Given the description of an element on the screen output the (x, y) to click on. 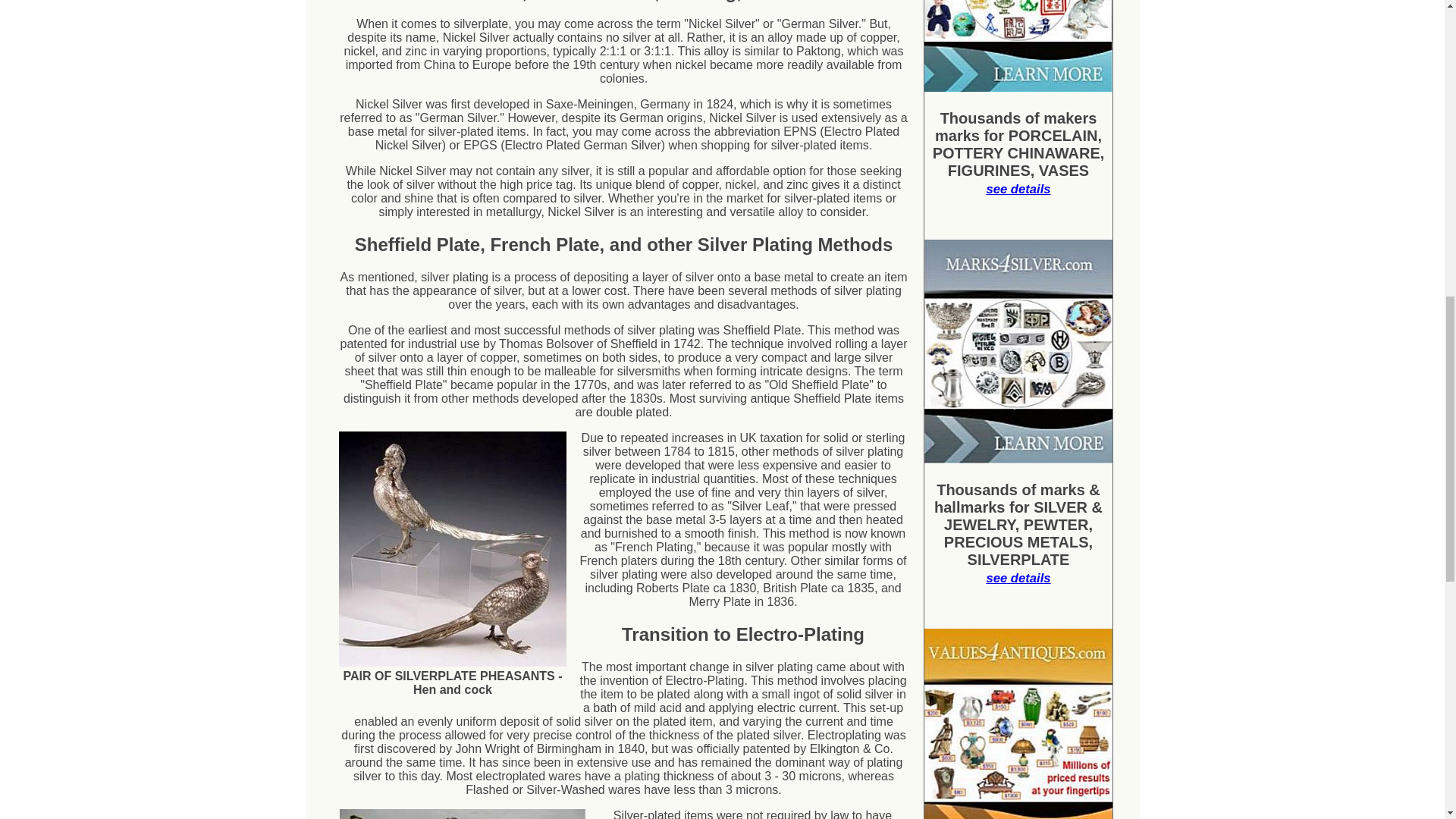
see details (1017, 188)
see details (1017, 577)
